Given the description of an element on the screen output the (x, y) to click on. 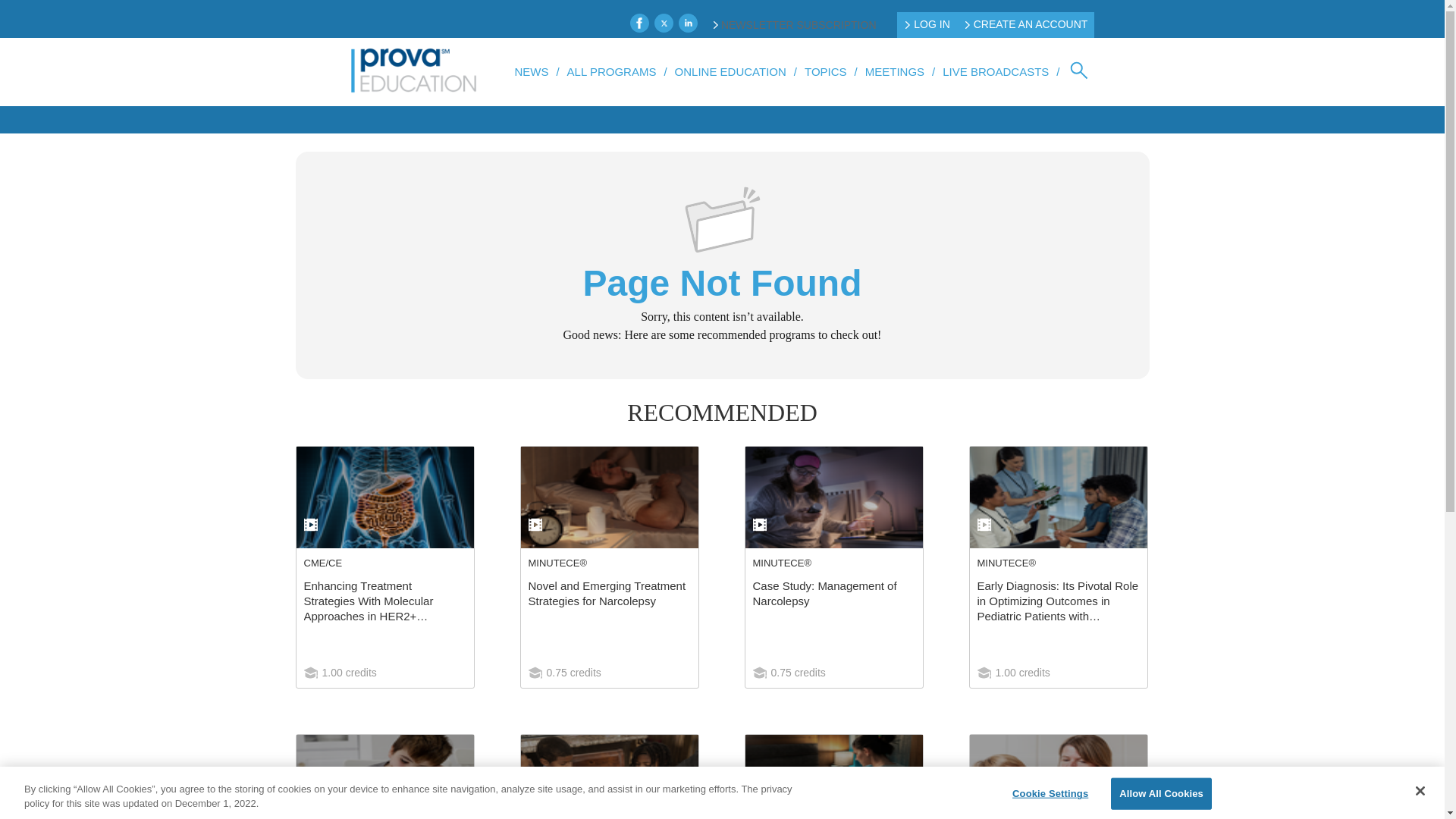
LinkedIn (687, 22)
Prova Education (413, 71)
NEWSLETTER SUBSCRIPTION (794, 24)
CREATE AN ACCOUNT (1026, 24)
LOG IN (927, 24)
Twitter (662, 22)
NEWS (531, 71)
